Given the description of an element on the screen output the (x, y) to click on. 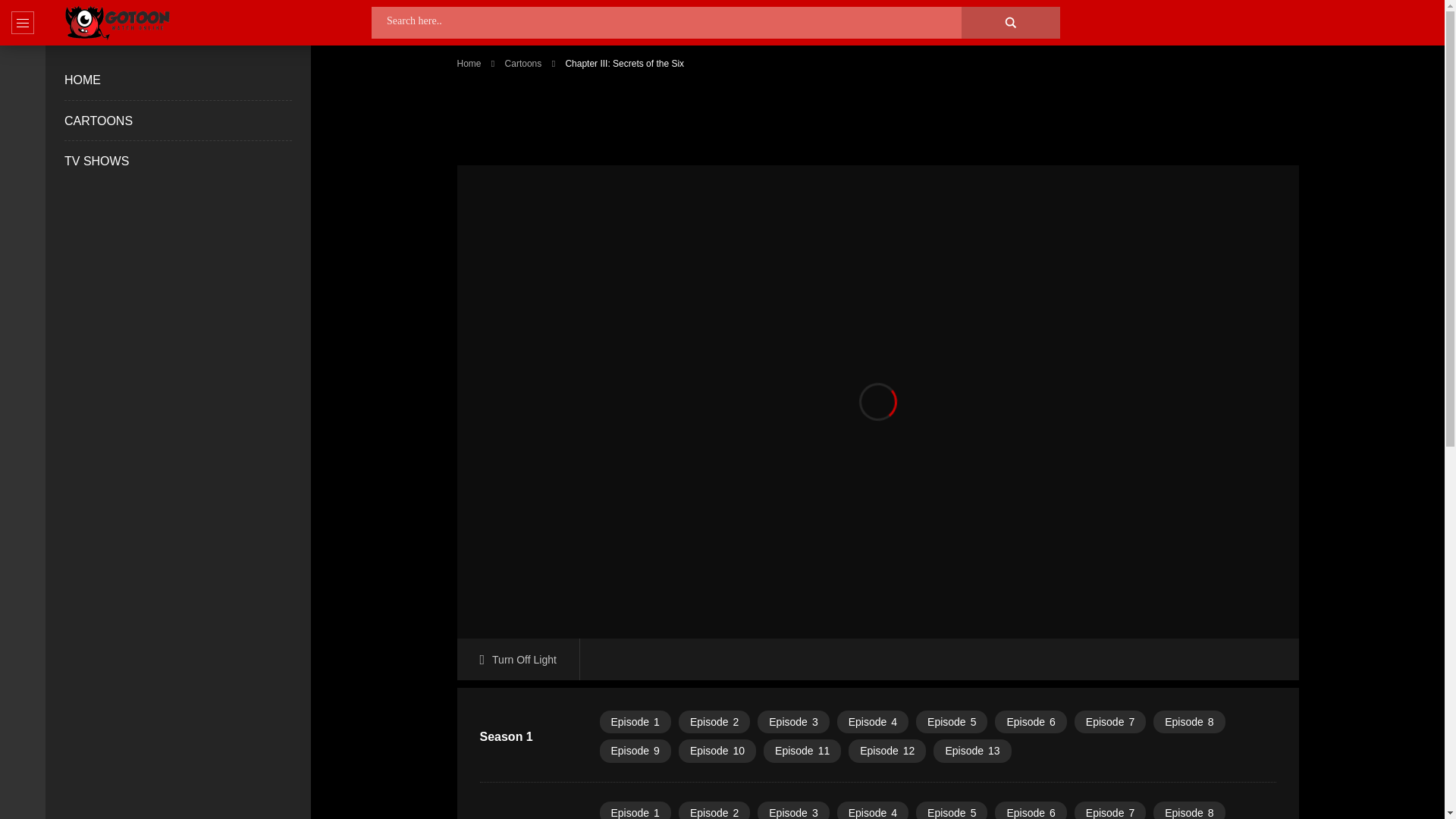
Episode5 (951, 721)
Home (468, 63)
CARTOONS (98, 120)
Episode1 (633, 721)
Episode3 (792, 721)
Chapter I: The Insidious Six (633, 810)
Episode2 (713, 721)
The Menace of Mysterio (951, 721)
The Sting of the Scorpion (1029, 721)
Episode4 (872, 721)
HOME (82, 79)
GoToon (116, 22)
Start search (435, 44)
Doctor Octopus: Armed and Dangerous (872, 721)
Episode6 (1029, 810)
